Given the description of an element on the screen output the (x, y) to click on. 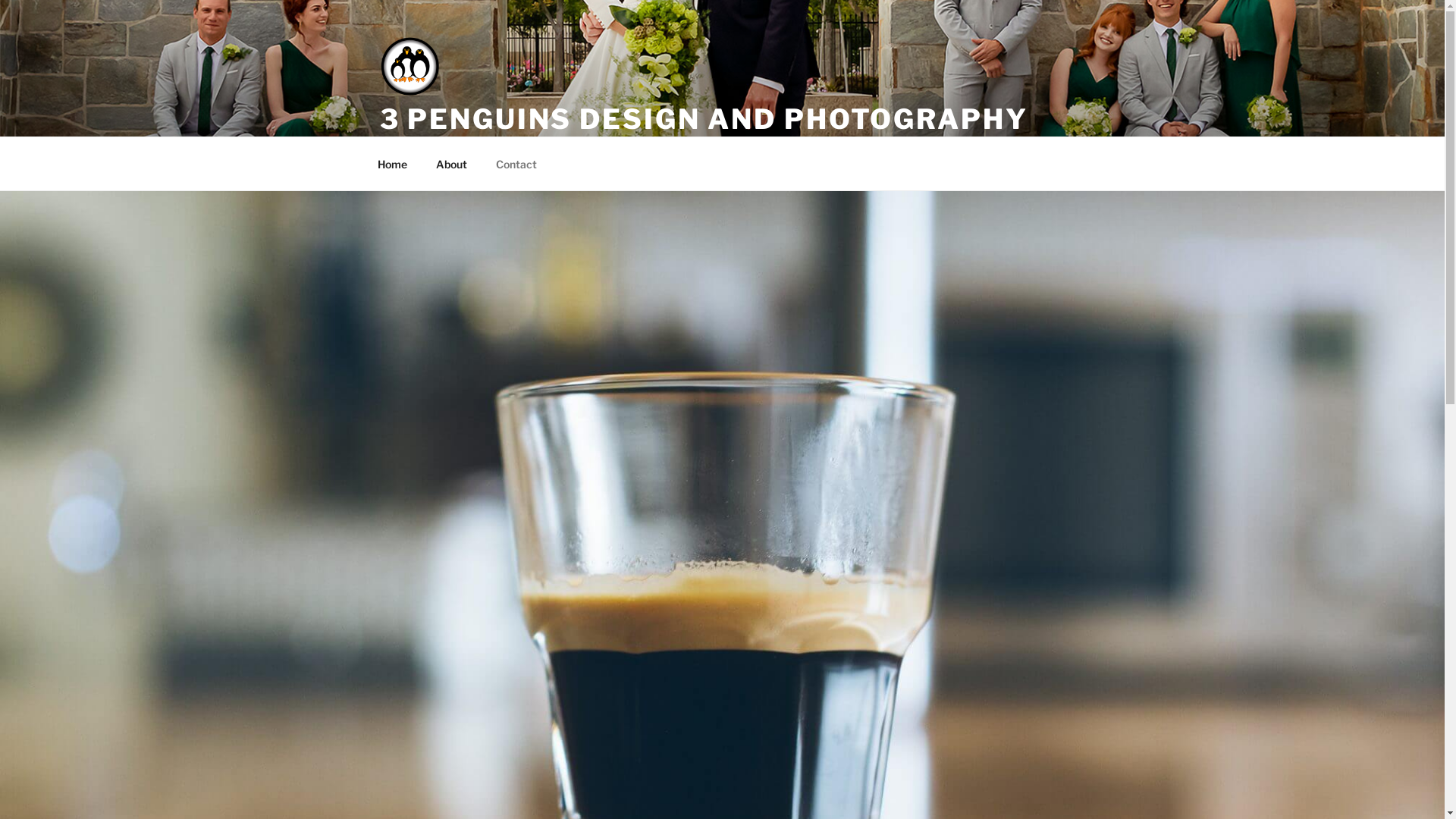
Skip to content Element type: text (0, 0)
Contact Element type: text (515, 163)
3 PENGUINS DESIGN AND PHOTOGRAPHY Element type: text (703, 118)
About Element type: text (451, 163)
Home Element type: text (392, 163)
